Given the description of an element on the screen output the (x, y) to click on. 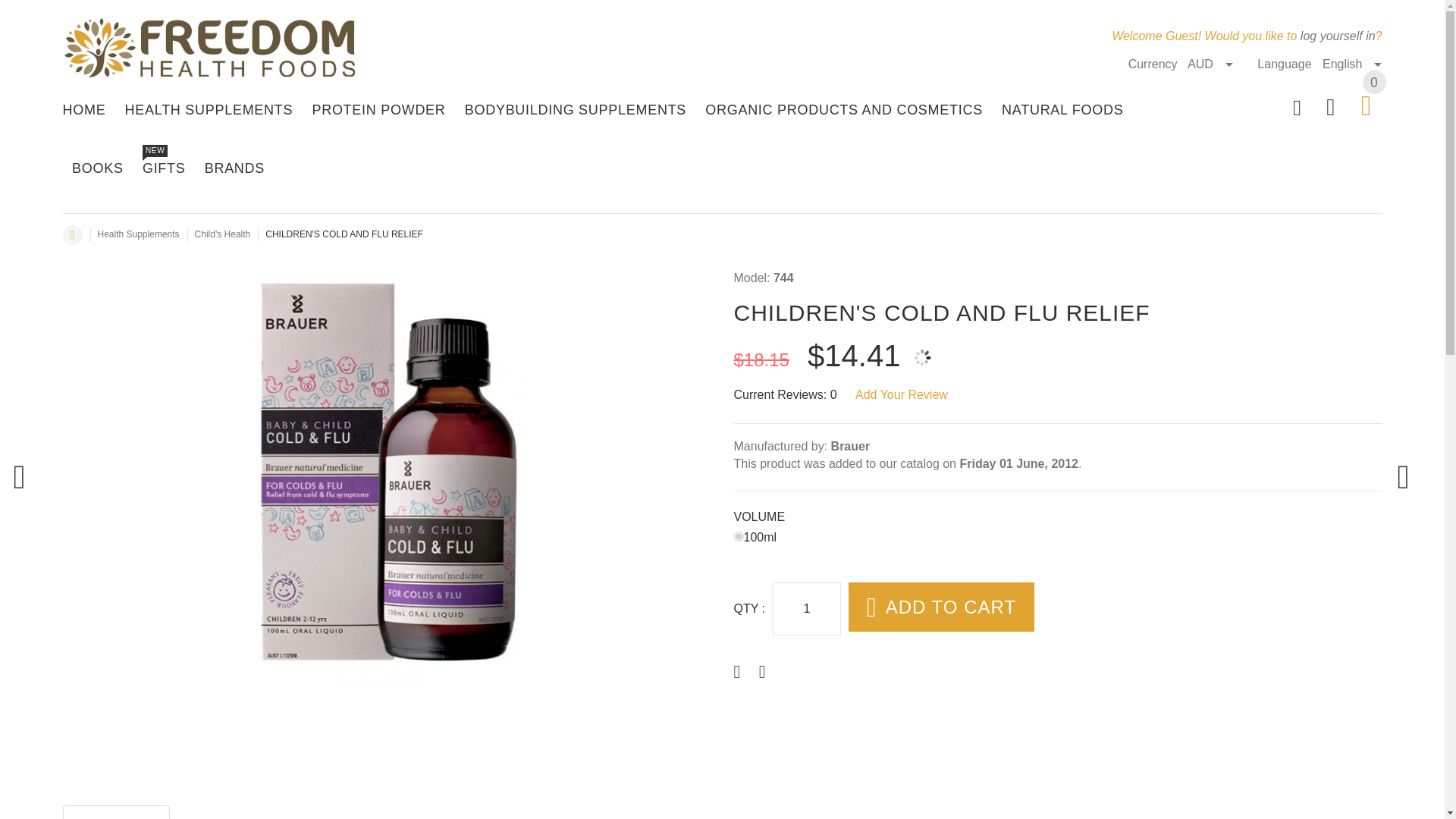
1 (807, 608)
Add to Cart (950, 607)
173 (738, 536)
